Given the description of an element on the screen output the (x, y) to click on. 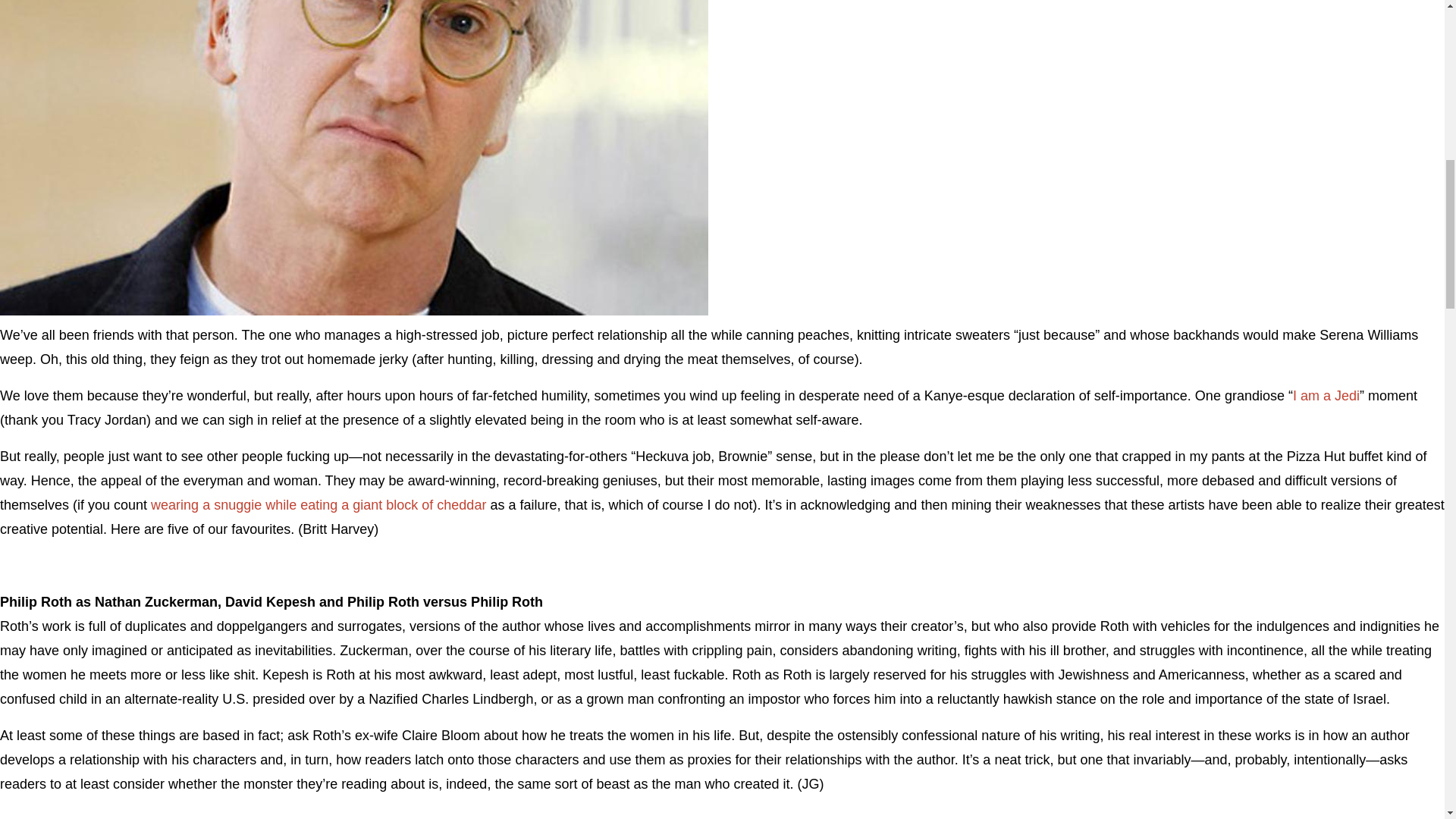
wearing a snuggie while eating a giant block of cheddar (318, 504)
I am a Jedi (1325, 395)
